Given the description of an element on the screen output the (x, y) to click on. 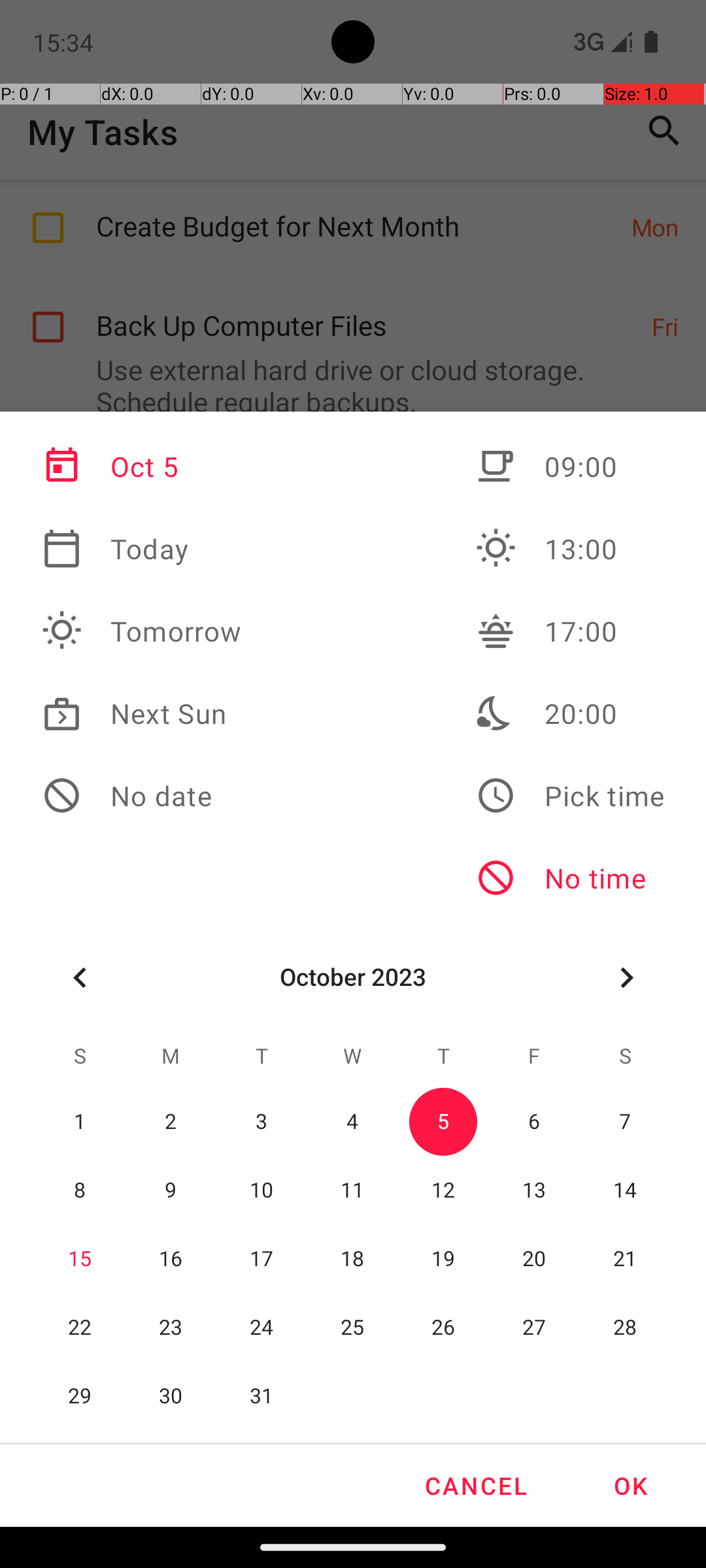
Oct 5 Element type: android.widget.CompoundButton (141, 466)
